Given the description of an element on the screen output the (x, y) to click on. 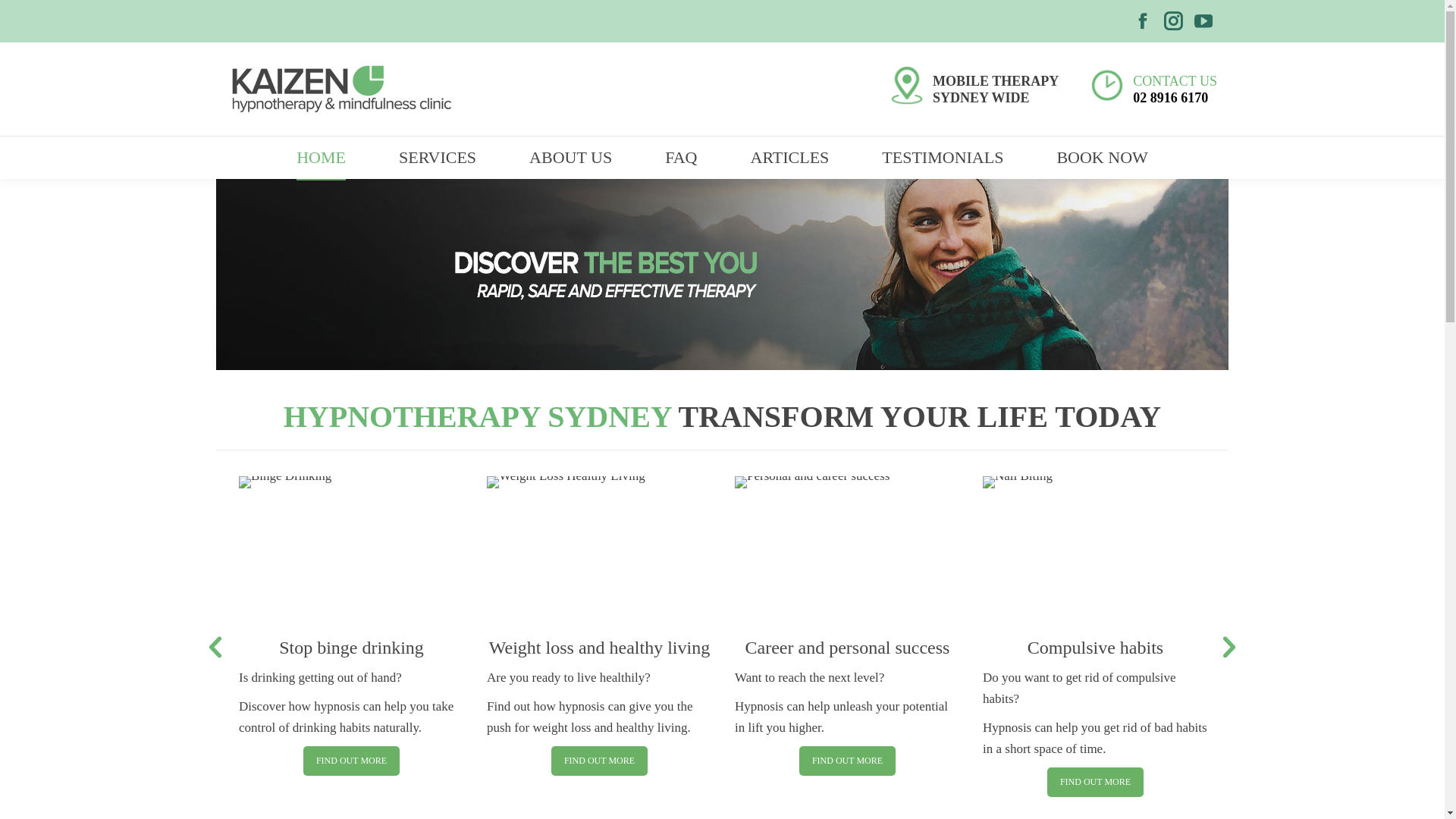
YouTube page opens in new window Element type: text (1203, 20)
Facebook page opens in new window Element type: text (1142, 20)
HOME Element type: text (320, 157)
ARTICLES Element type: text (790, 157)
ABOUT US Element type: text (570, 157)
FIND OUT MORE Element type: text (847, 760)
FIND OUT MORE Element type: text (599, 760)
CONTACT US Element type: text (1174, 79)
FIND OUT MORE Element type: text (1095, 782)
Instagram page opens in new window Element type: text (1172, 20)
02 8916 6170 Element type: text (1170, 96)
TESTIMONIALS Element type: text (942, 157)
FAQ Element type: text (680, 157)
SERVICES Element type: text (437, 157)
BOOK NOW Element type: text (1101, 157)
FIND OUT MORE Element type: text (351, 760)
